Given the description of an element on the screen output the (x, y) to click on. 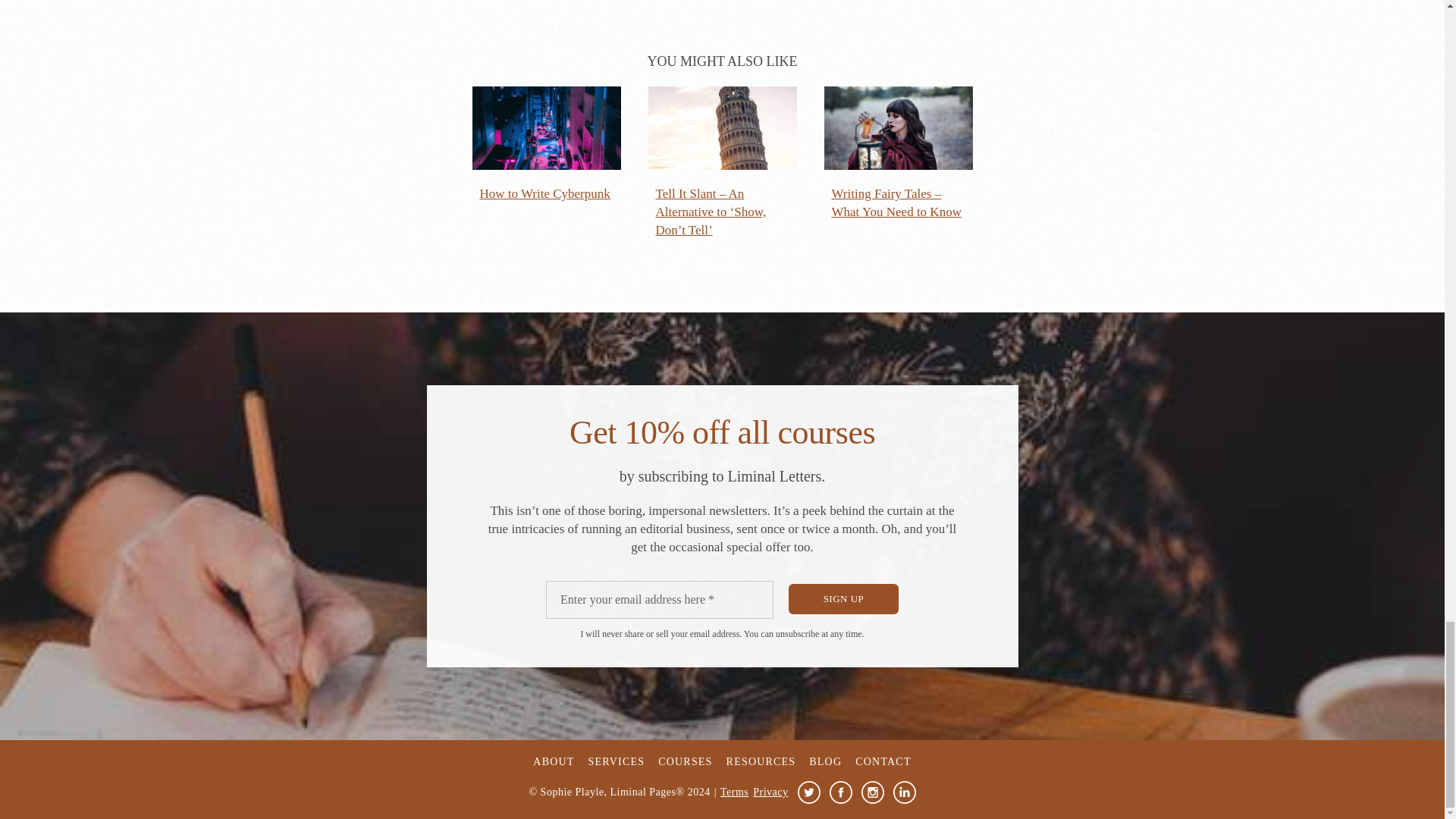
SIGN UP (843, 598)
Twitter (809, 792)
BLOG (825, 762)
Instagram (872, 792)
SERVICES (616, 762)
ABOUT (552, 762)
Facebook (840, 792)
RESOURCES (761, 762)
How to Write Cyberpunk (545, 144)
COURSES (684, 762)
